Given the description of an element on the screen output the (x, y) to click on. 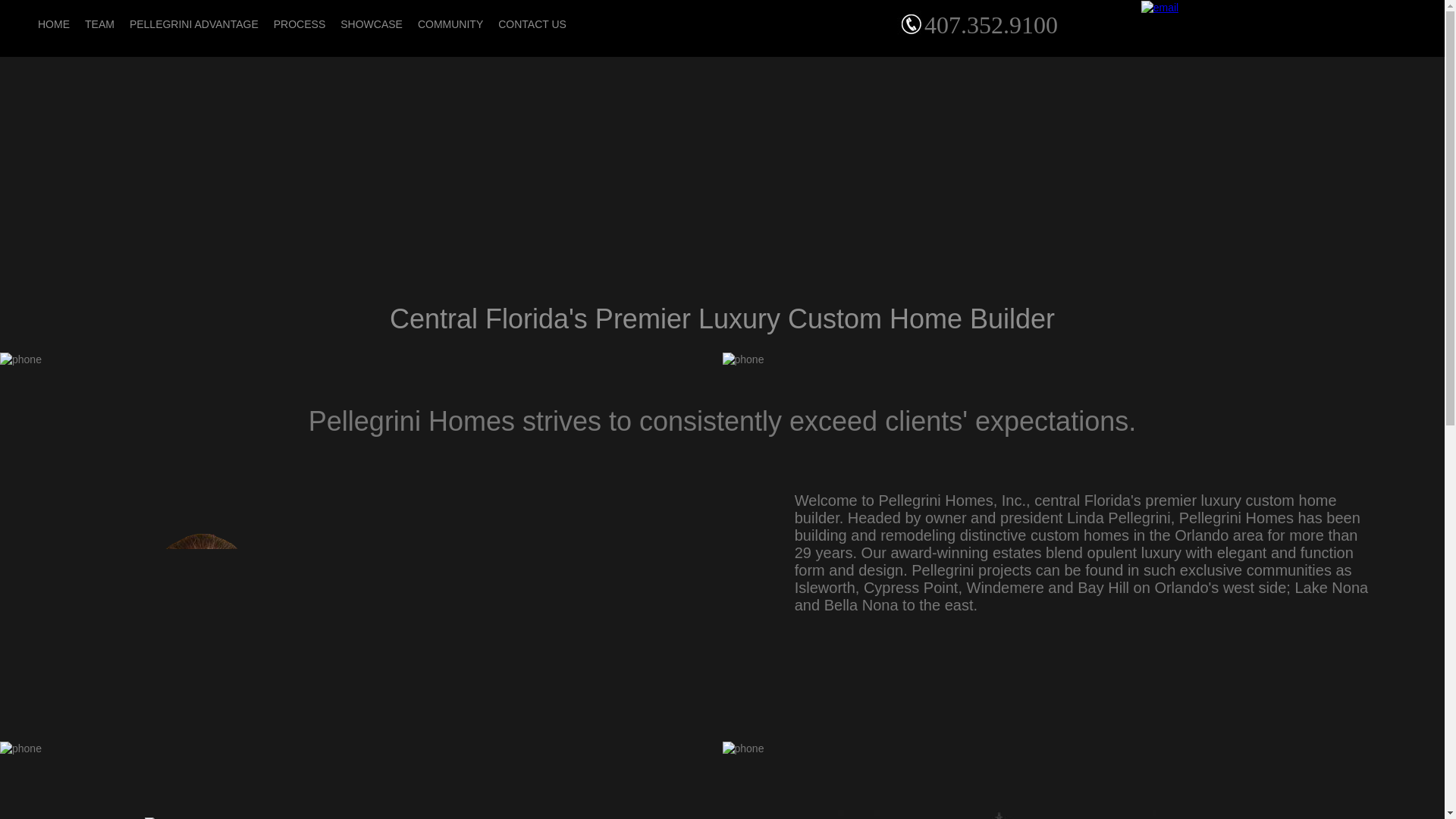
COMMUNITY (450, 23)
PELLEGRINI ADVANTAGE (194, 23)
PROCESS (299, 23)
HOME (53, 23)
SHOWCASE (371, 23)
CONTACT US (531, 23)
email (1159, 6)
TEAM (99, 23)
